Given the description of an element on the screen output the (x, y) to click on. 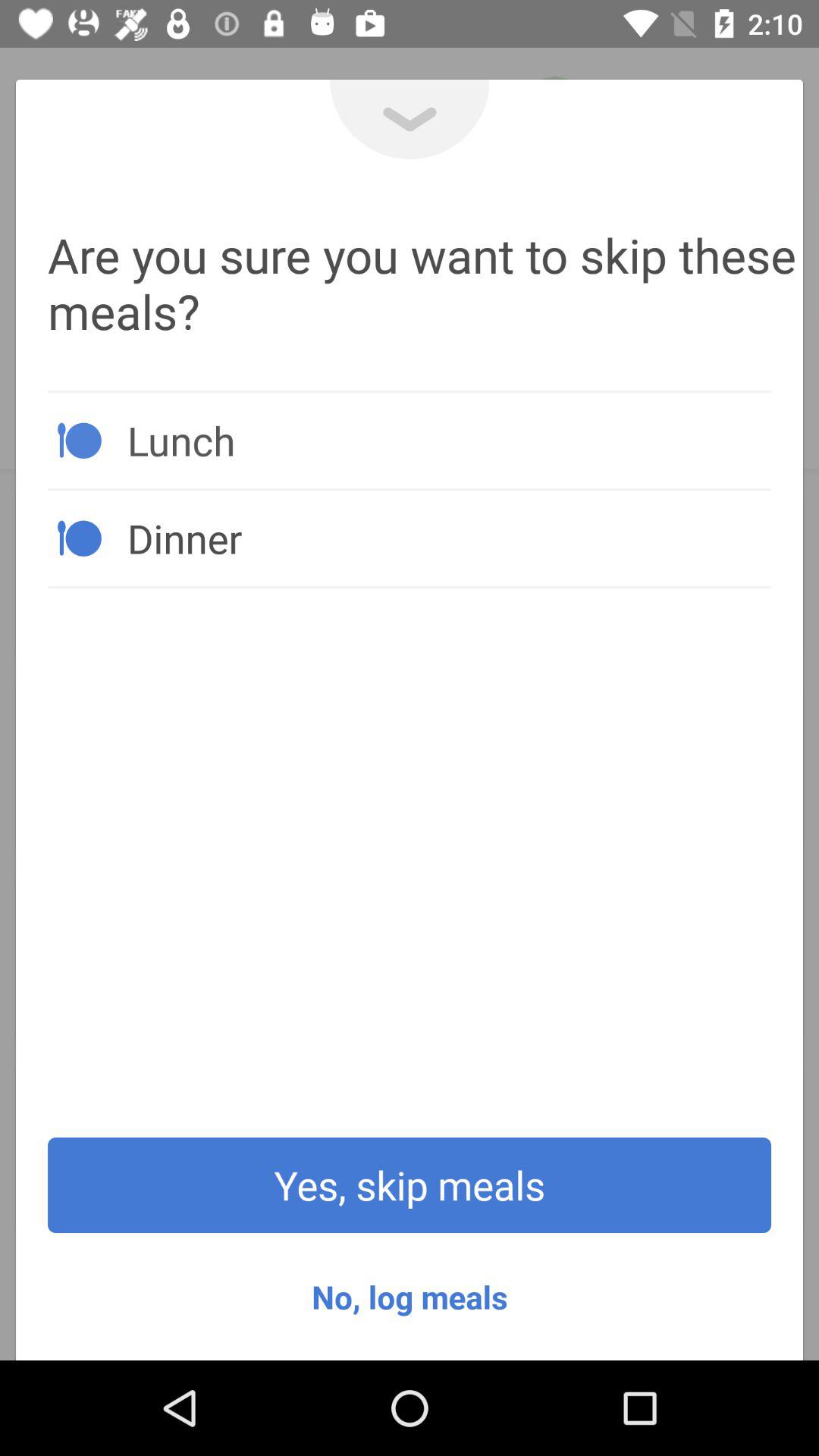
scroll until yes, skip meals icon (409, 1185)
